Given the description of an element on the screen output the (x, y) to click on. 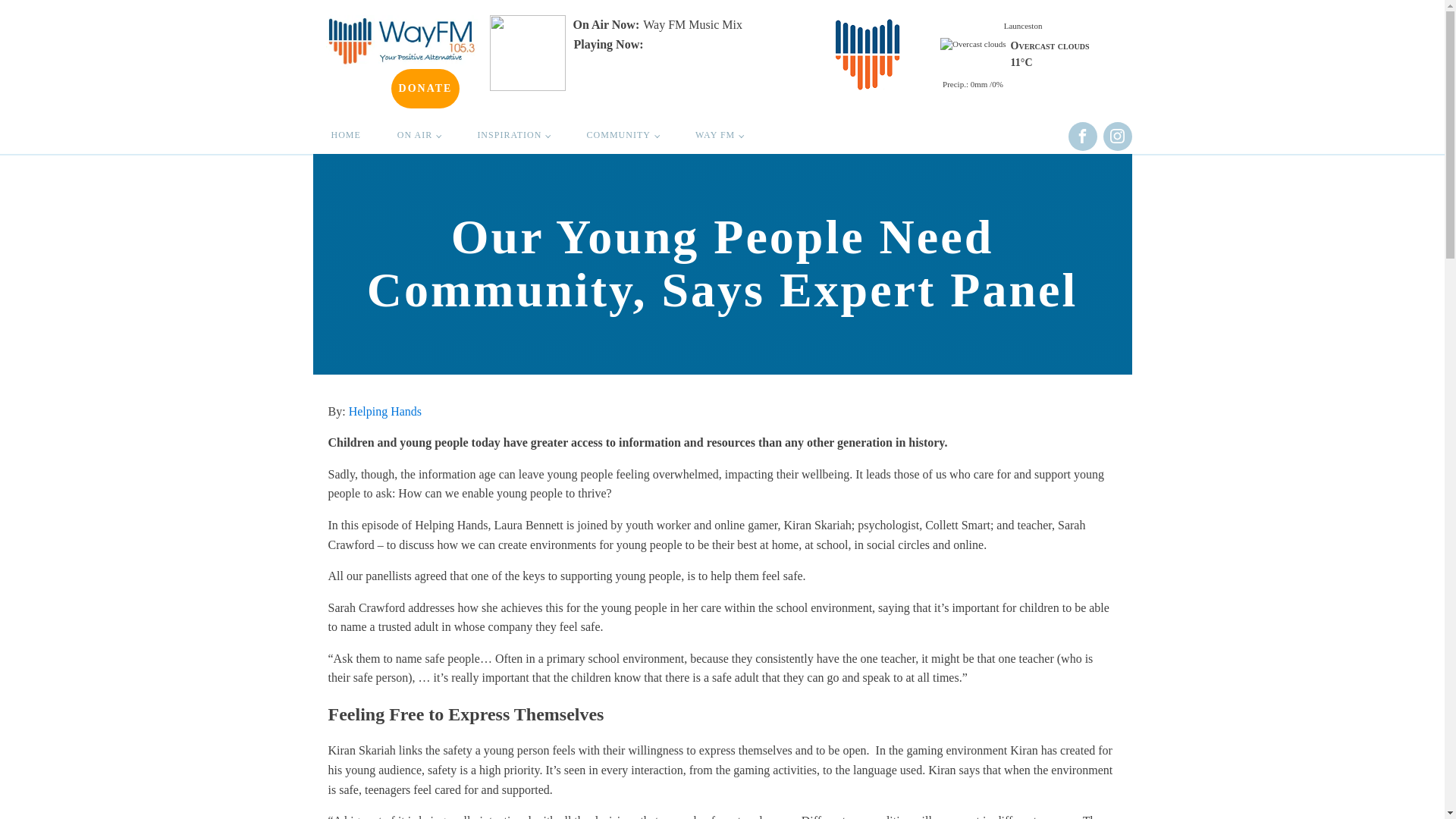
DONATE (425, 87)
ON AIR (419, 134)
HOME (345, 134)
Helping Hands (385, 410)
WAY FM (719, 134)
INSPIRATION (512, 134)
COMMUNITY (623, 134)
